Given the description of an element on the screen output the (x, y) to click on. 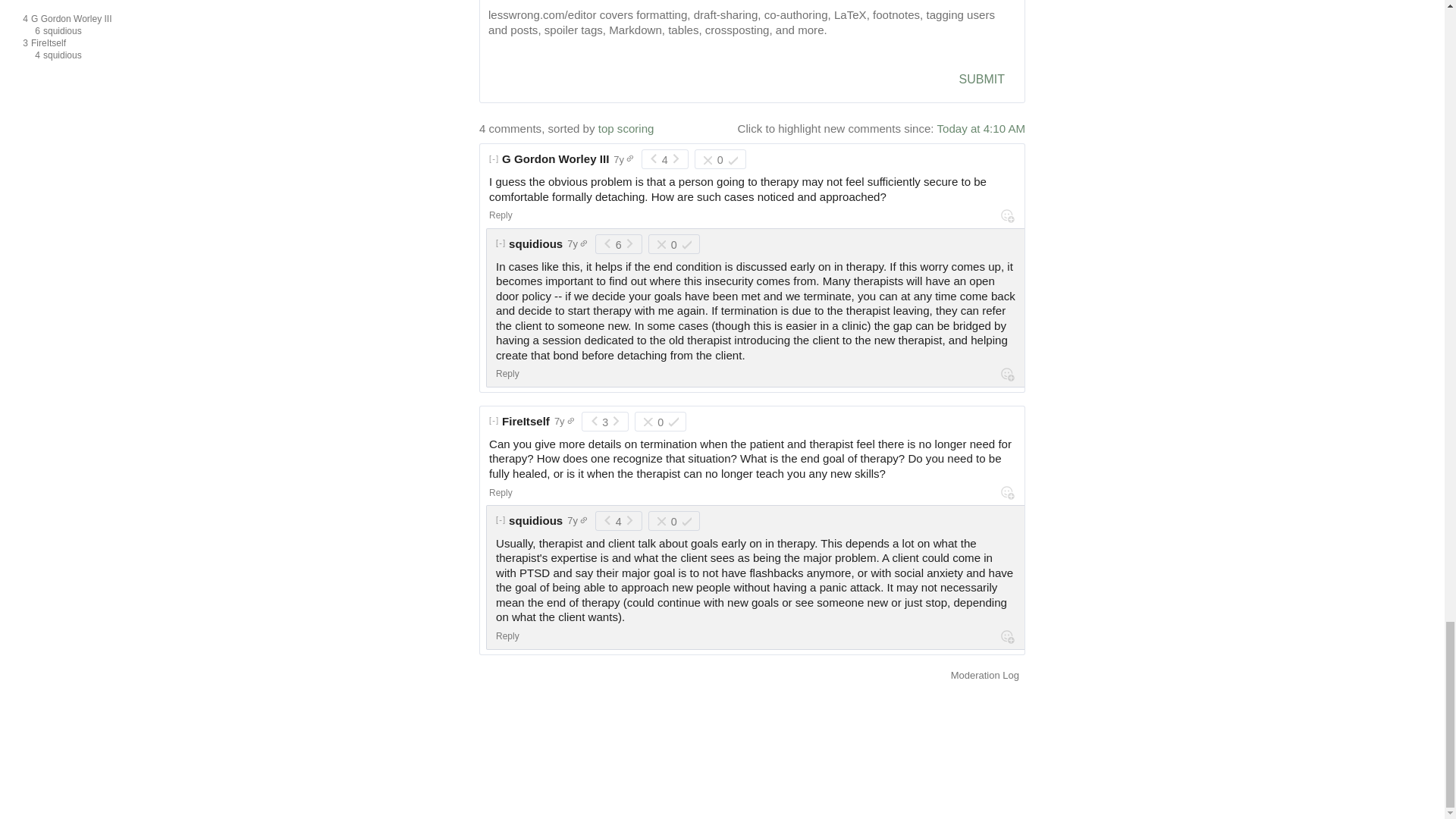
SUBMIT (981, 79)
top scoring (625, 128)
7y (623, 159)
Reply (500, 214)
Today at 4:10 AM (109, 44)
squidious (980, 128)
